Given the description of an element on the screen output the (x, y) to click on. 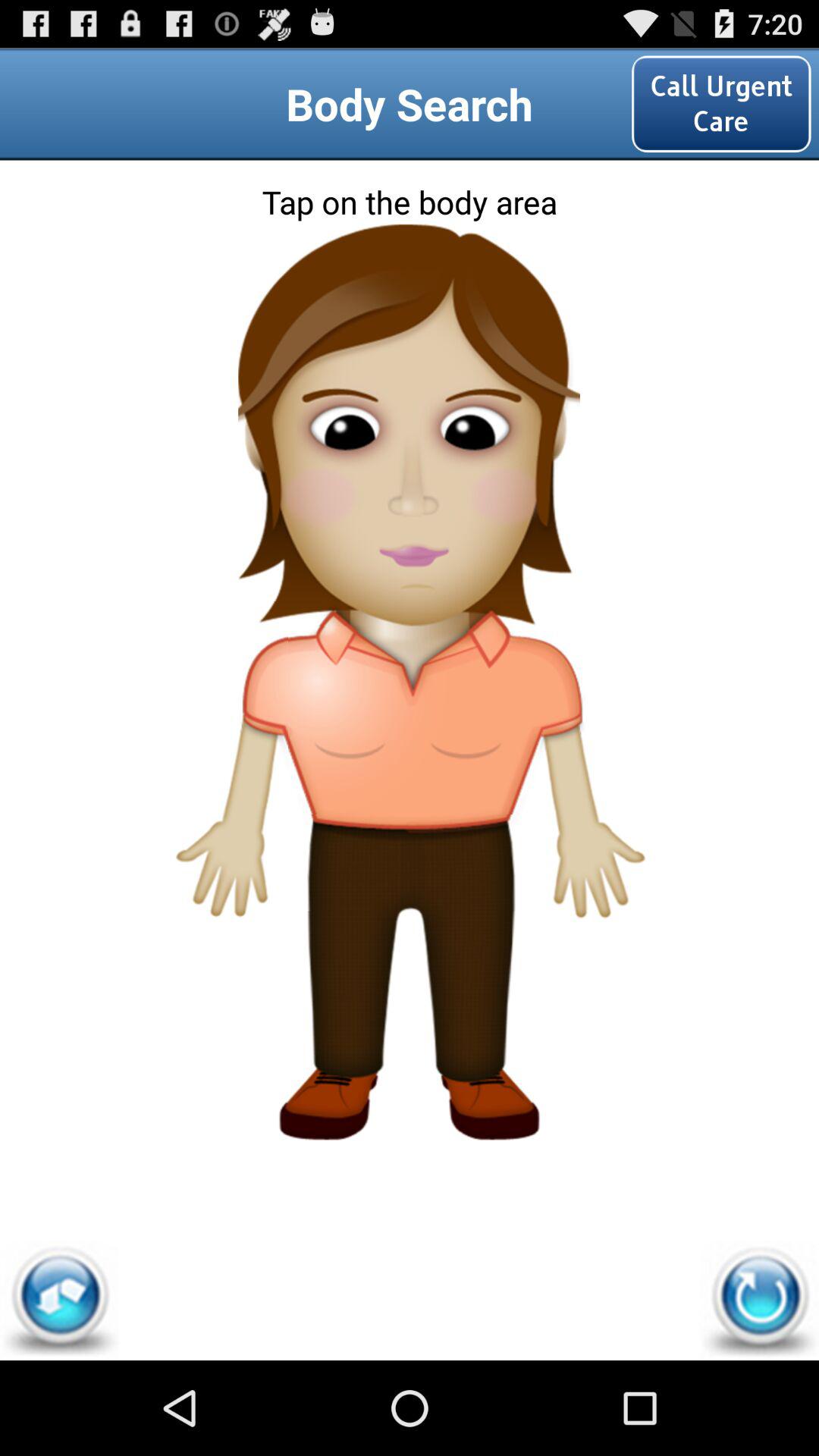
turn on item at the bottom left corner (59, 1300)
